Given the description of an element on the screen output the (x, y) to click on. 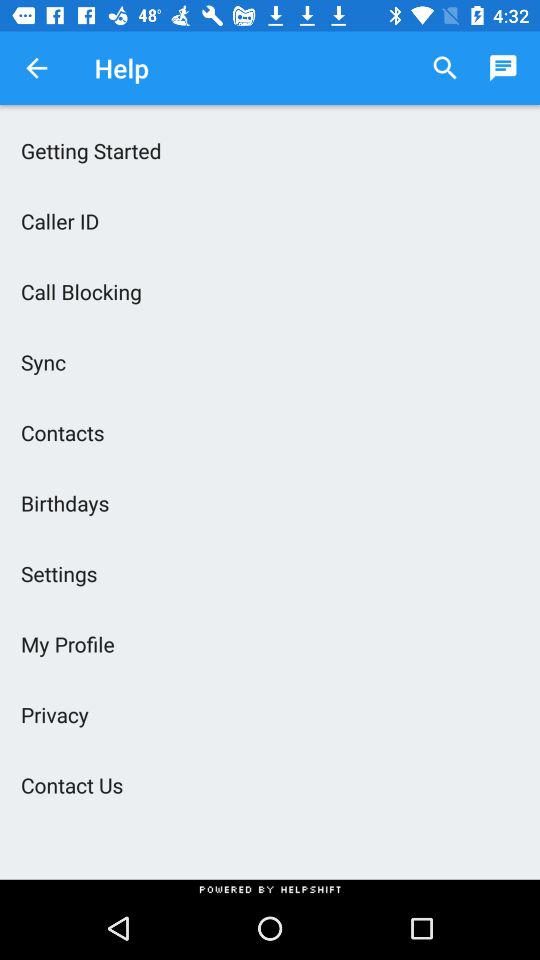
scroll to the caller id item (270, 220)
